Given the description of an element on the screen output the (x, y) to click on. 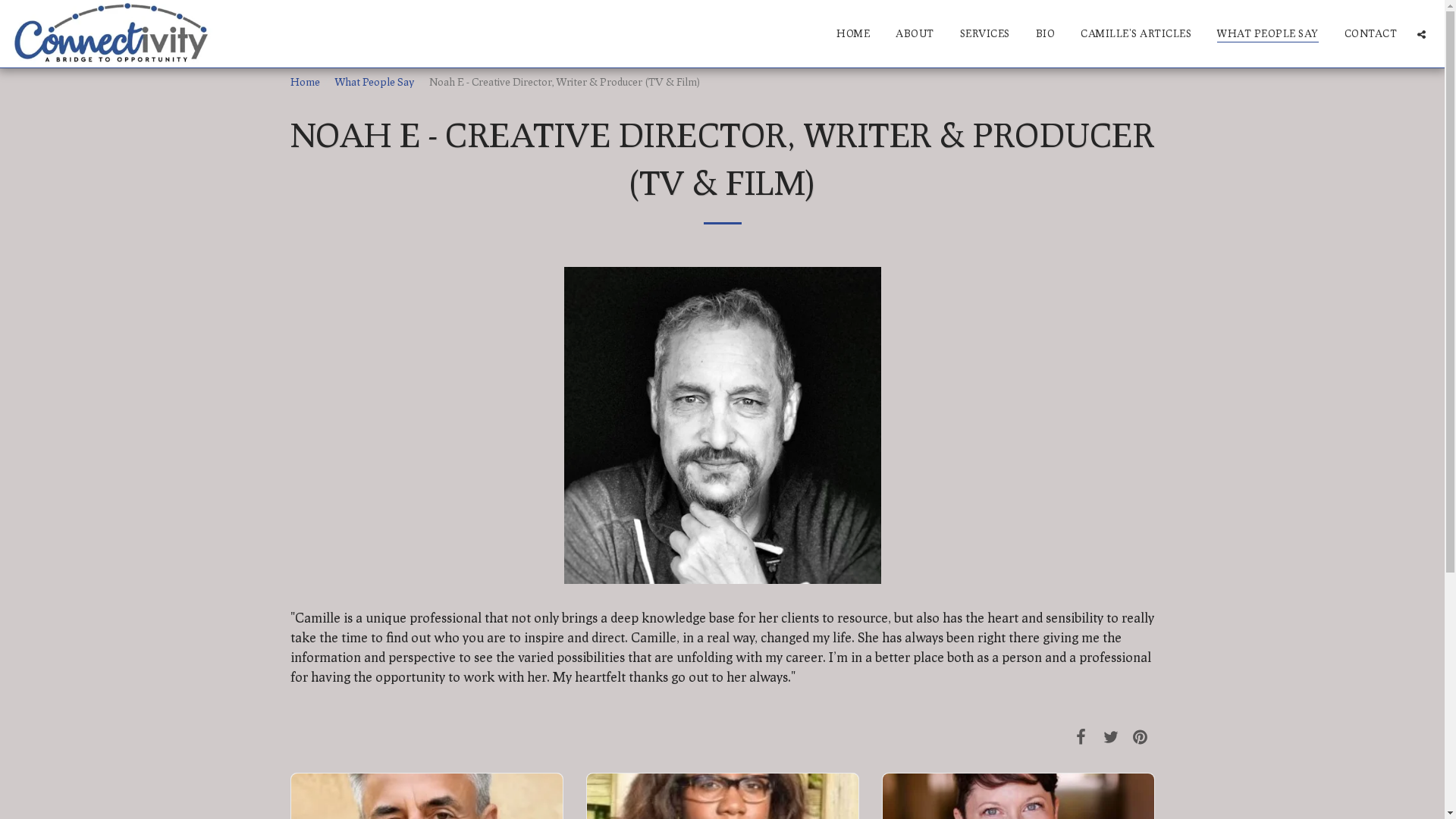
Tweet Element type: hover (1110, 736)
Pin it Element type: hover (1139, 736)
  Element type: text (1139, 736)
ABOUT Element type: text (914, 32)
Share on Facebook Element type: hover (1081, 736)
CONTACT Element type: text (1369, 32)
BIO Element type: text (1045, 32)
  Element type: text (1421, 33)
CAMILLE'S ARTICLES Element type: text (1135, 32)
  Element type: text (1110, 736)
Home Element type: text (304, 81)
HOME Element type: text (852, 32)
SERVICES Element type: text (984, 32)
  Element type: text (1081, 736)
WHAT PEOPLE SAY Element type: text (1267, 32)
What People Say Element type: text (374, 81)
